Given the description of an element on the screen output the (x, y) to click on. 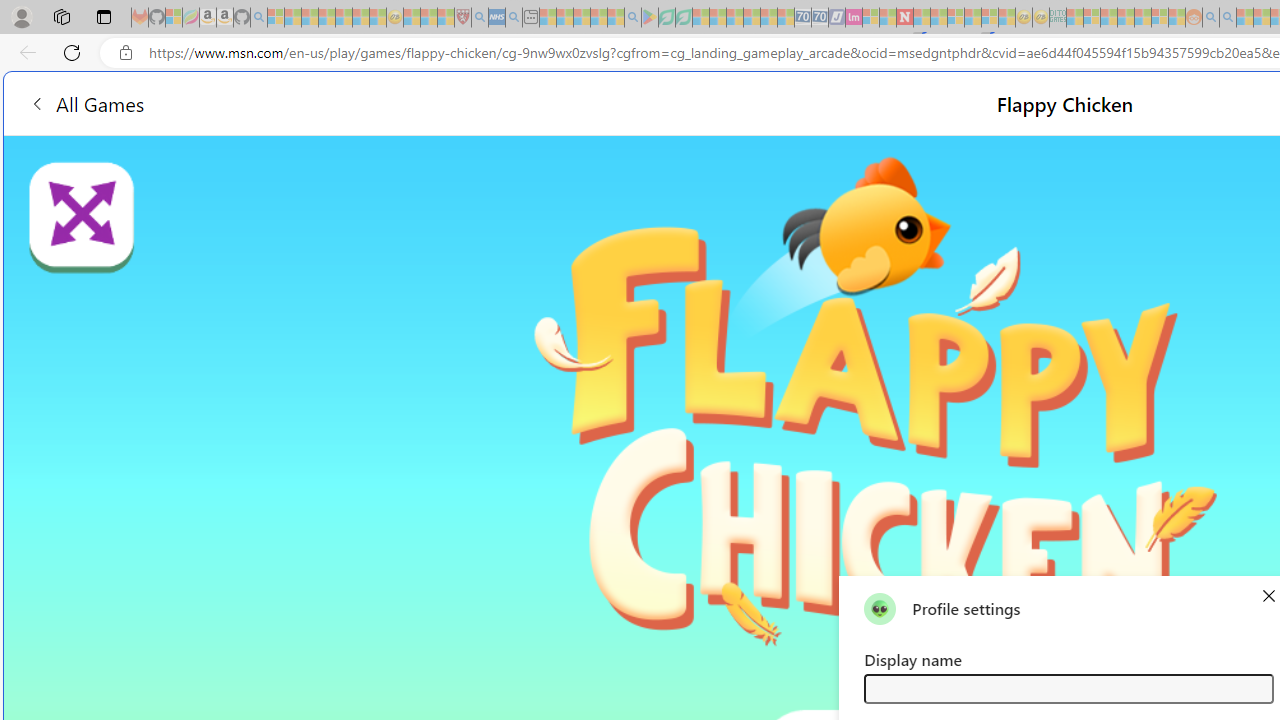
Personal Profile (21, 16)
Workspaces (61, 16)
The Weather Channel - MSN - Sleeping (309, 17)
""'s avatar (880, 608)
NCL Adult Asthma Inhaler Choice Guideline - Sleeping (497, 17)
Bluey: Let's Play! - Apps on Google Play - Sleeping (649, 17)
